Given the description of an element on the screen output the (x, y) to click on. 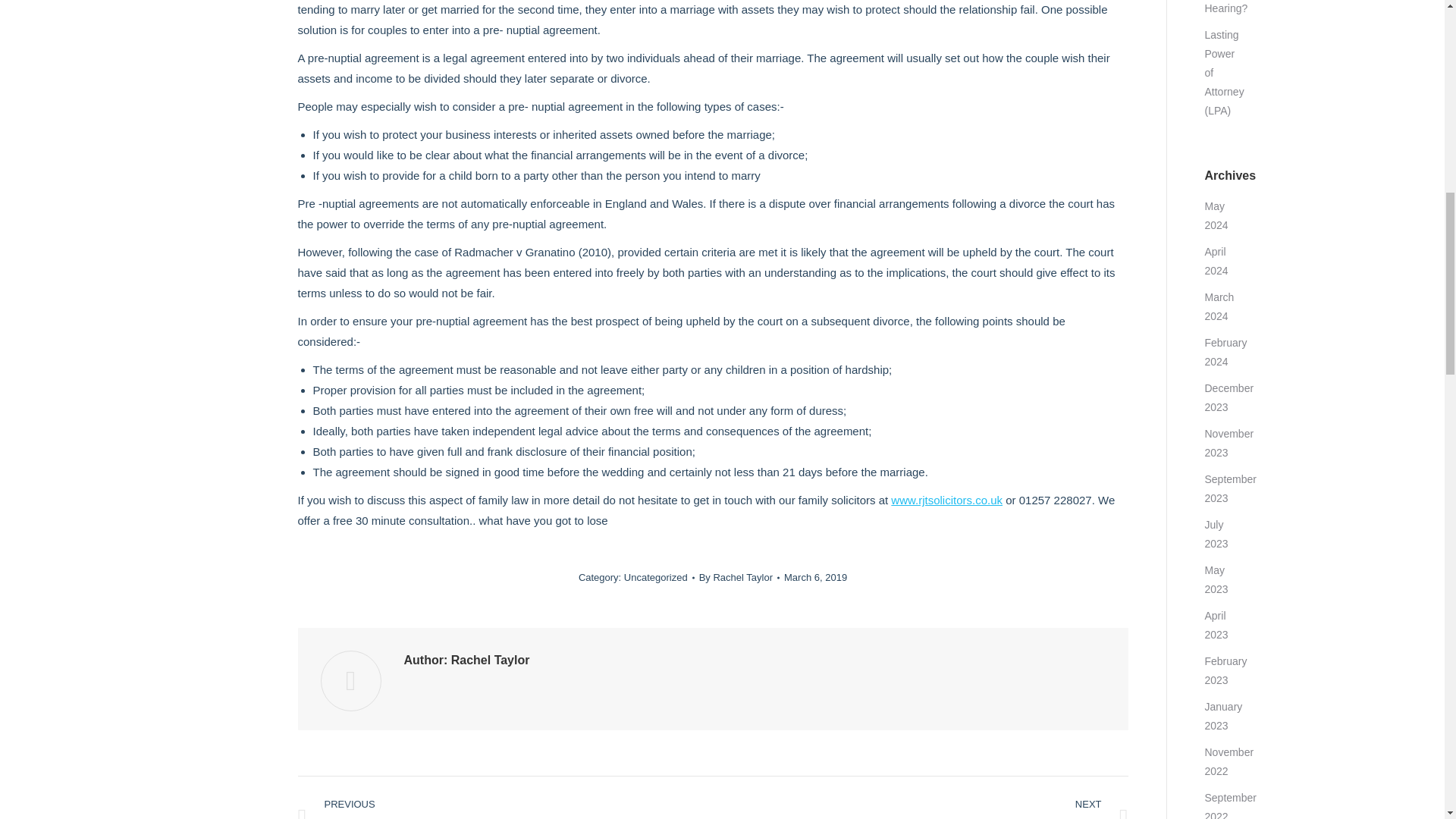
View all posts by Rachel Taylor (738, 577)
Uncategorized (655, 577)
By Rachel Taylor (738, 577)
www.rjtsolicitors.co.uk (947, 499)
March 6, 2019 (815, 577)
12:57 pm (815, 577)
